Given the description of an element on the screen output the (x, y) to click on. 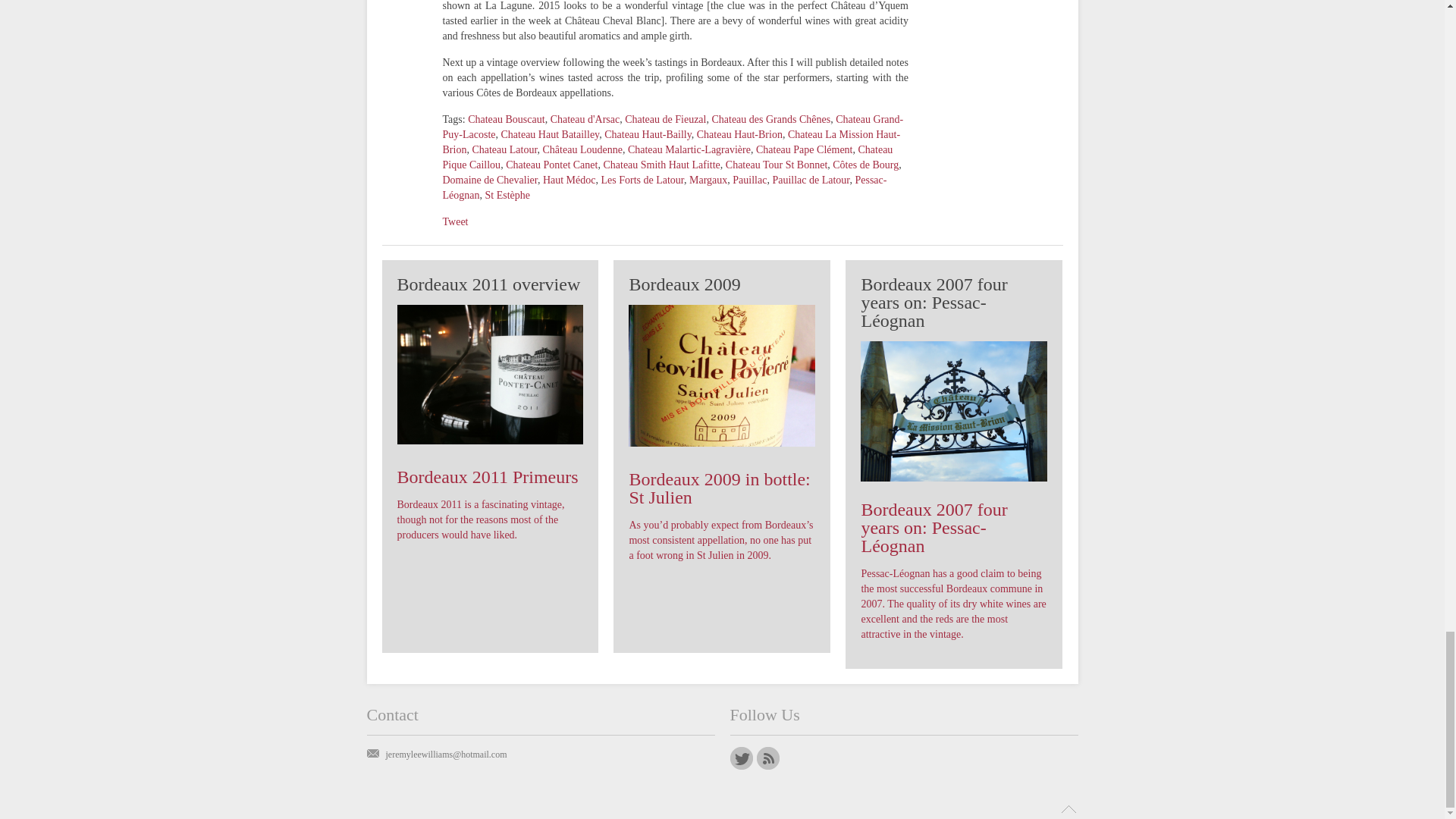
RSS (767, 757)
Twitter (740, 757)
